Given the description of an element on the screen output the (x, y) to click on. 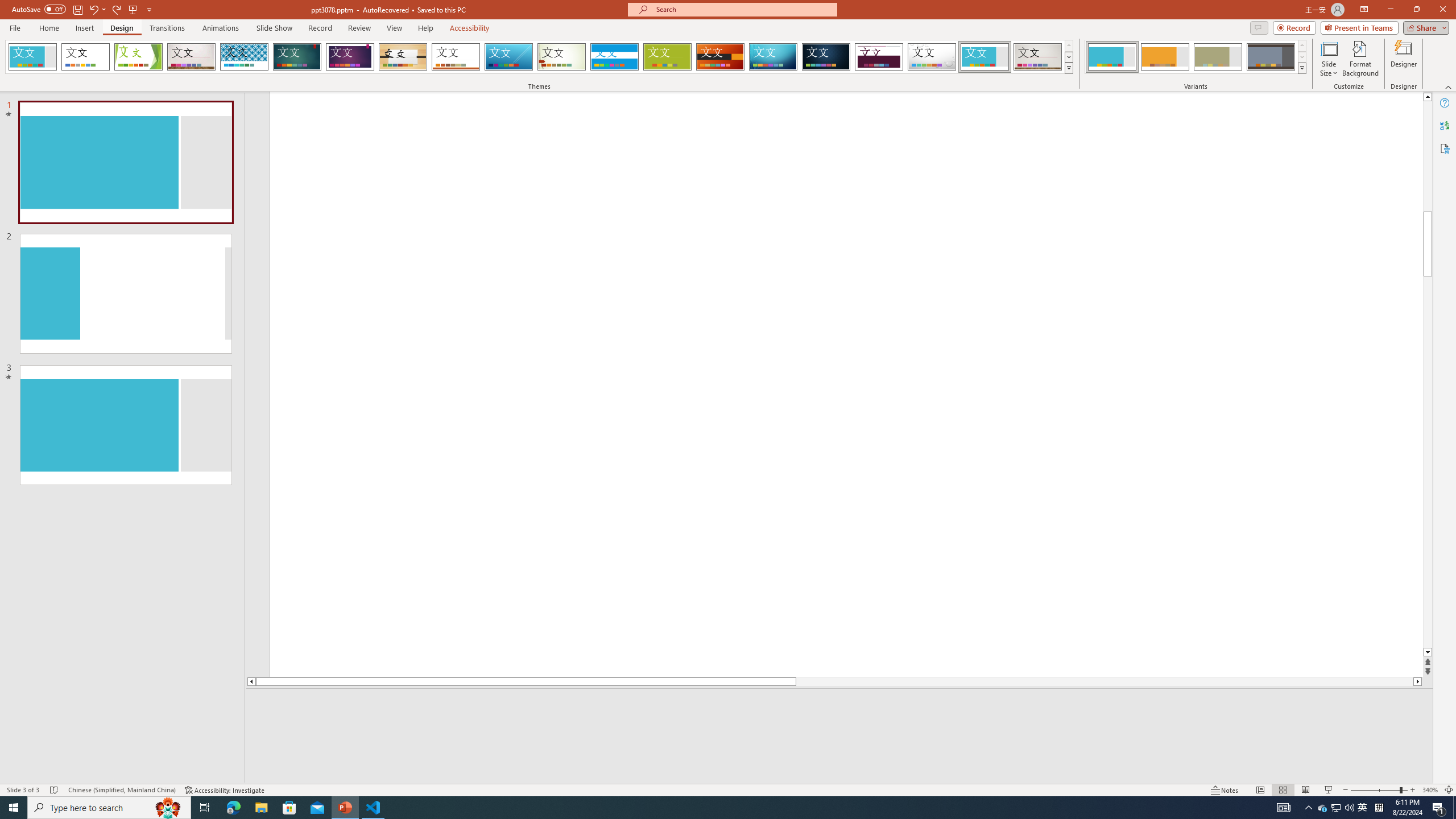
Zoom 340% (1430, 790)
Frame Variant 4 (1270, 56)
